Given the description of an element on the screen output the (x, y) to click on. 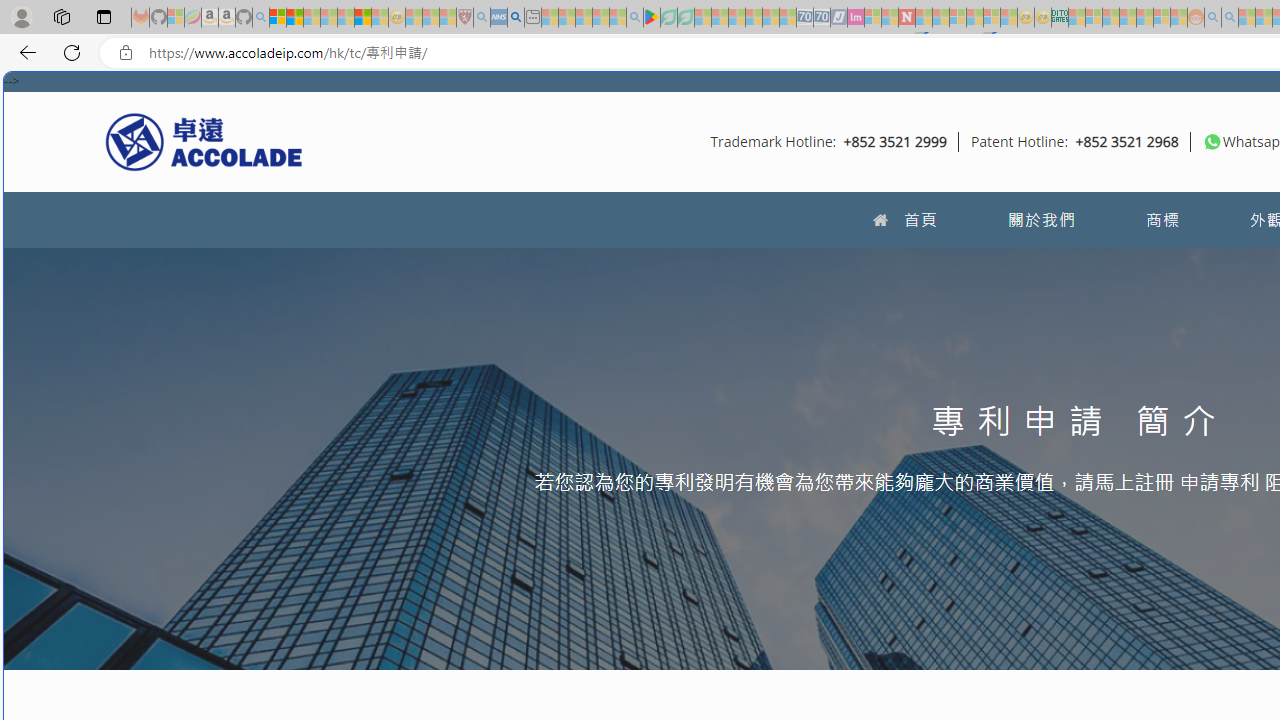
MSNBC - MSN - Sleeping (1076, 17)
14 Common Myths Debunked By Scientific Facts - Sleeping (940, 17)
Expert Portfolios - Sleeping (1128, 17)
Microsoft account | Privacy (277, 17)
Robert H. Shmerling, MD - Harvard Health - Sleeping (465, 17)
To get missing image descriptions, open the context menu. (1211, 141)
